Given the description of an element on the screen output the (x, y) to click on. 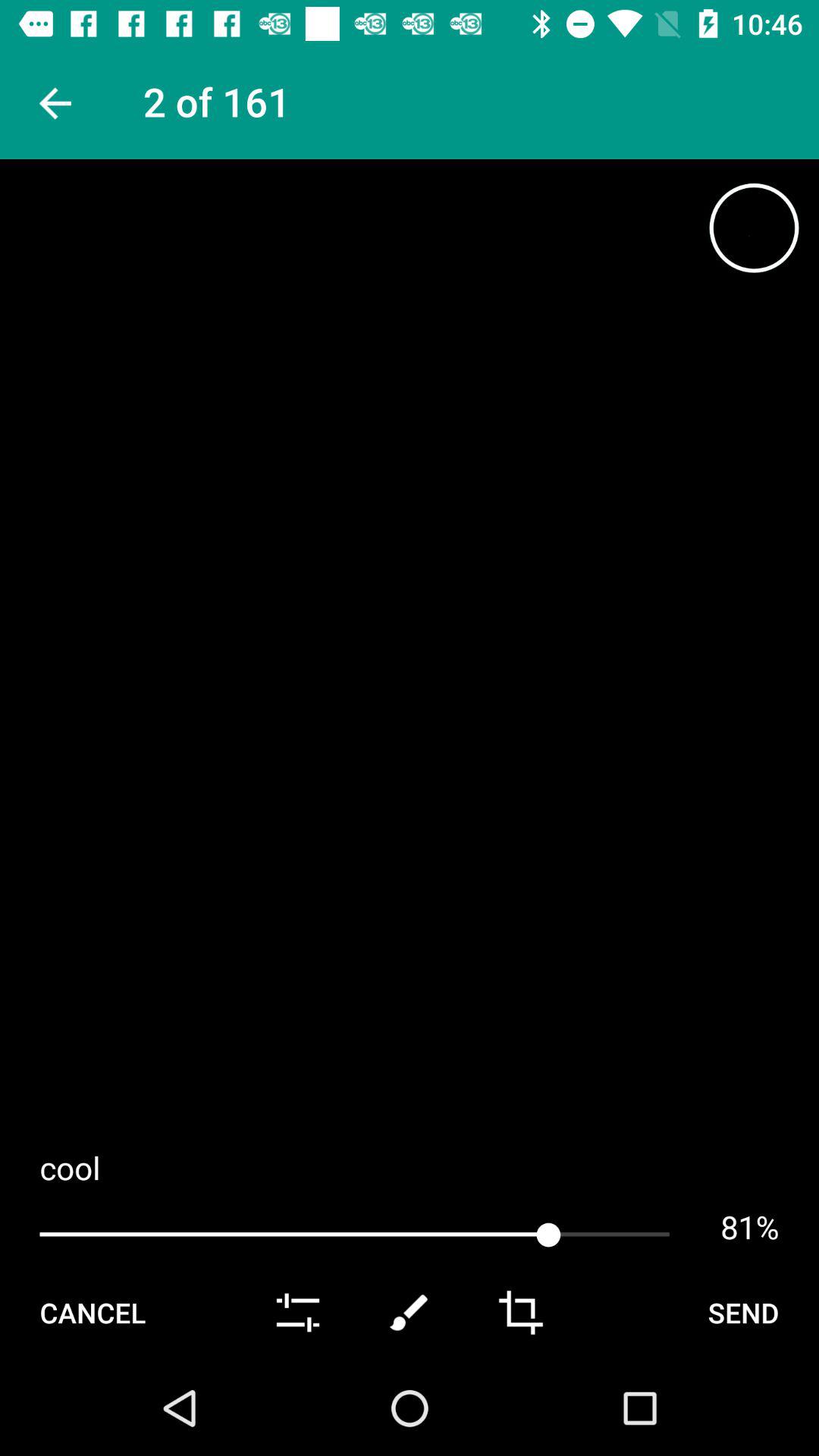
press the item next to the cancel app (297, 1312)
